Given the description of an element on the screen output the (x, y) to click on. 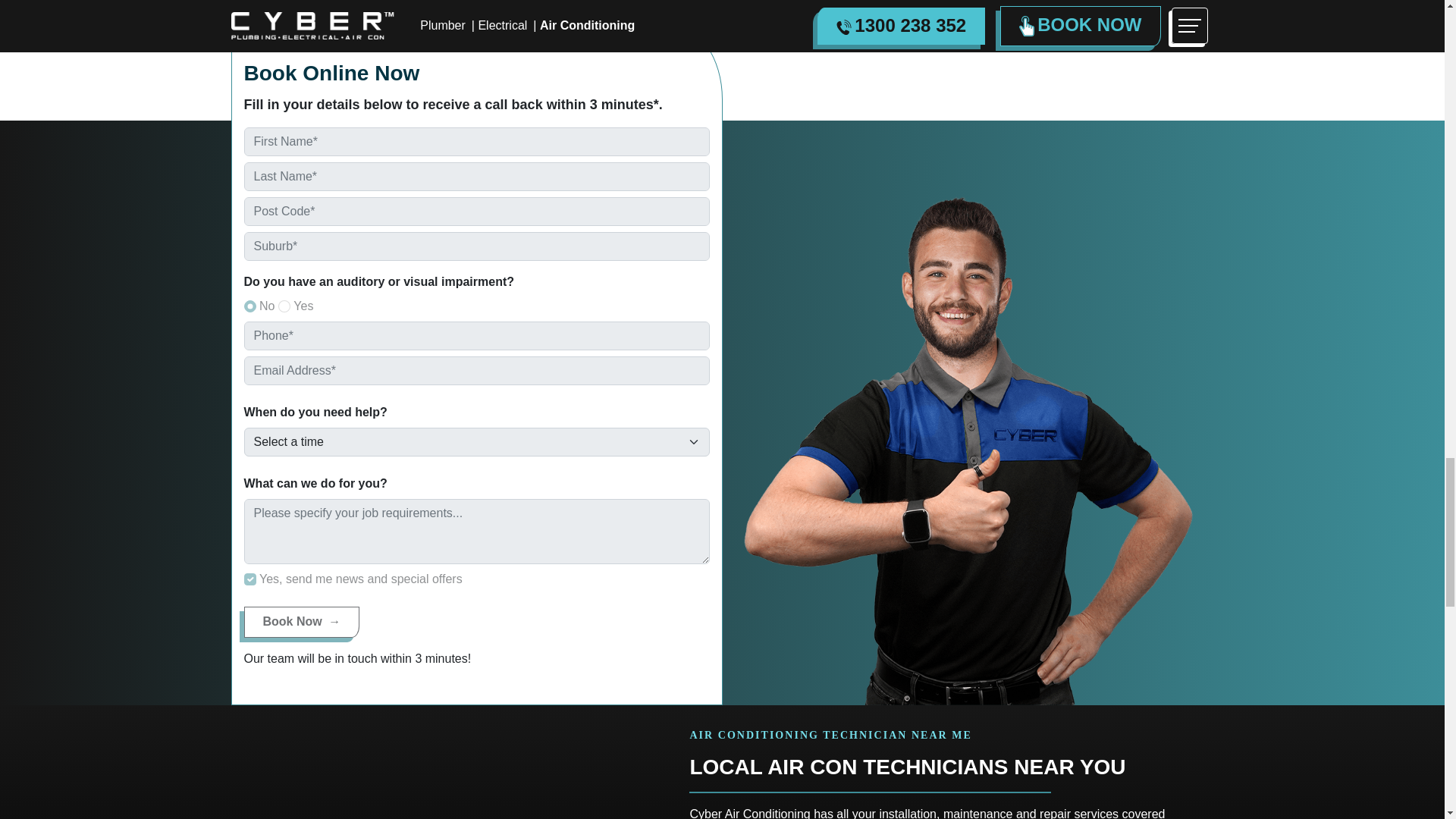
Yes (250, 579)
Book Now (301, 621)
false (250, 306)
true (283, 306)
